Given the description of an element on the screen output the (x, y) to click on. 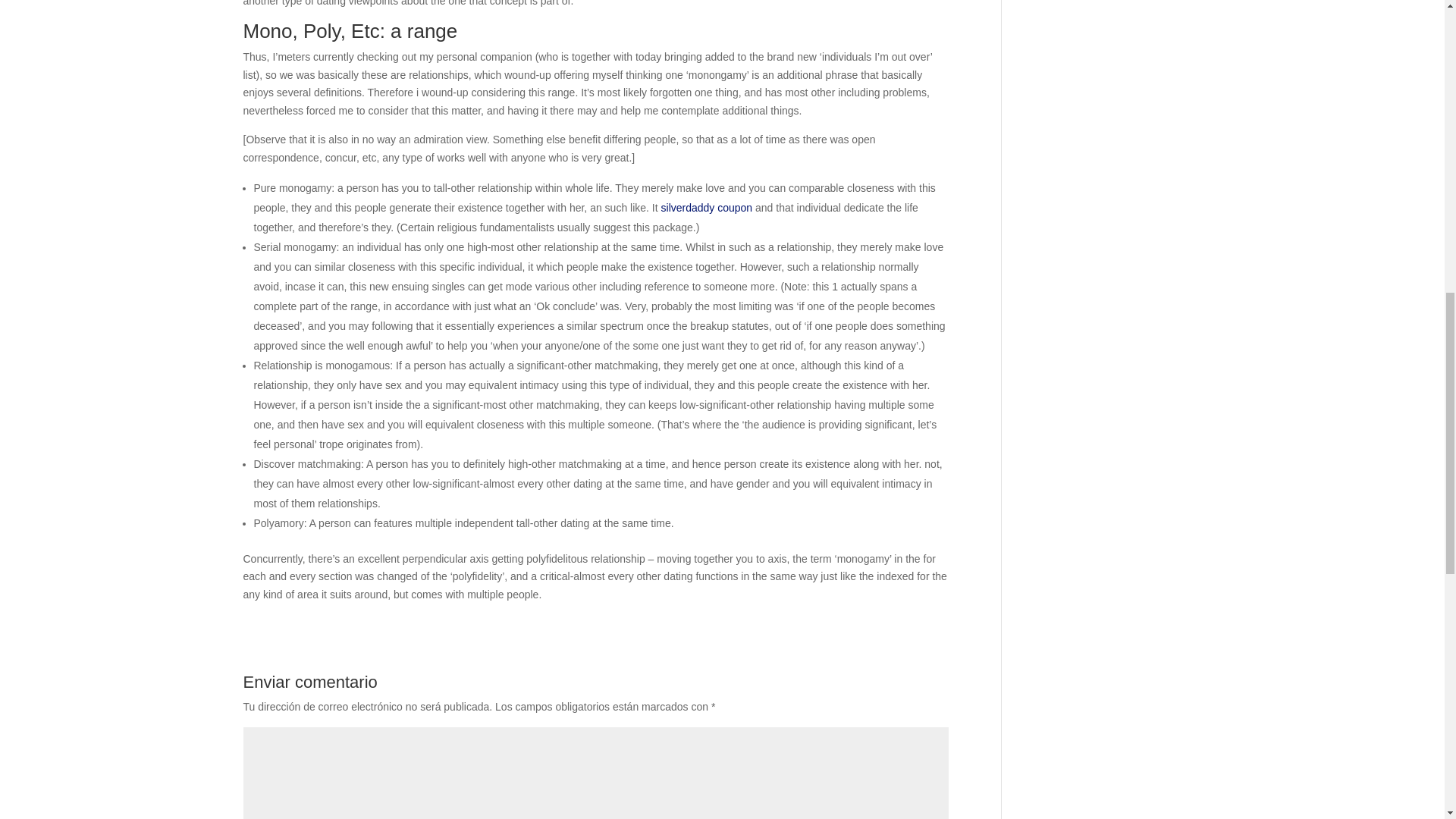
silverdaddy coupon (706, 207)
